Given the description of an element on the screen output the (x, y) to click on. 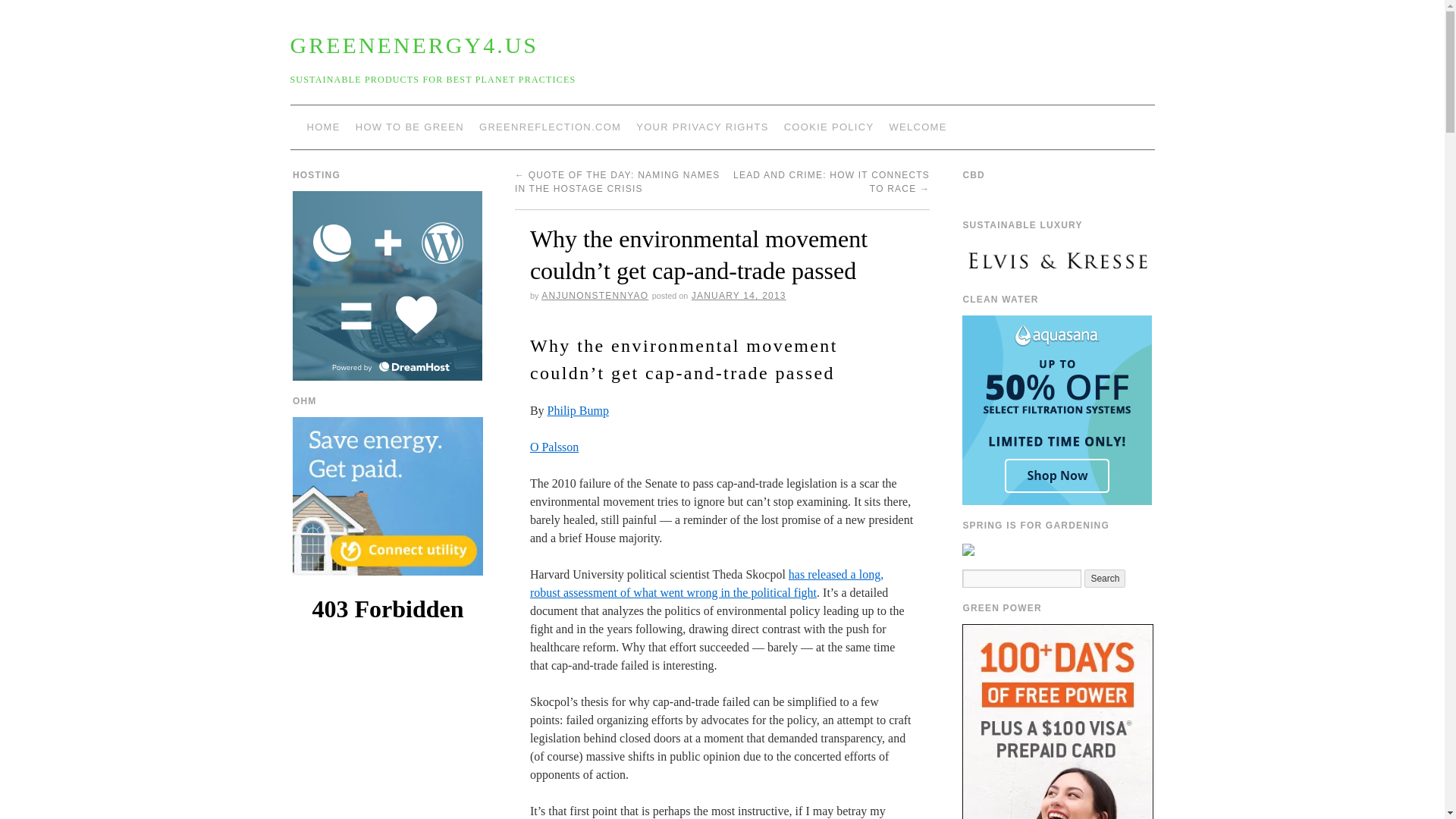
Search (1104, 578)
HOW TO BE GREEN (409, 127)
O Palsson (553, 446)
WELCOME (916, 127)
YOUR PRIVACY RIGHTS (702, 127)
Home (916, 127)
6:45 pm (738, 295)
HOME (322, 127)
GREENREFLECTION.COM (549, 127)
image credit (553, 446)
GreenEnergy4.us (413, 44)
JANUARY 14, 2013 (738, 295)
View all posts by anjunonstennyao (594, 295)
Posts by Philip Bump (577, 410)
